Given the description of an element on the screen output the (x, y) to click on. 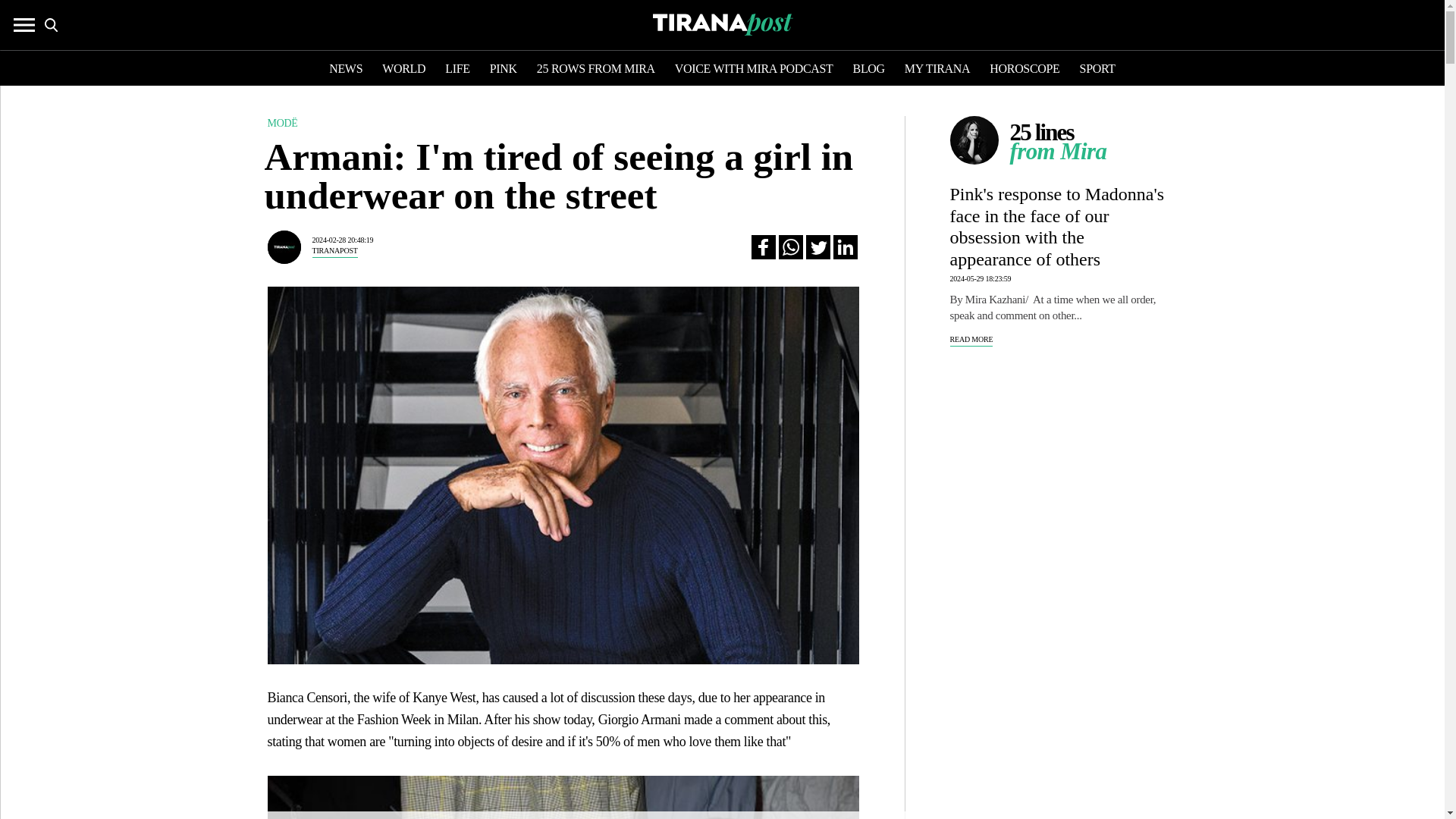
BLOG (869, 69)
LinkedIn (844, 247)
VOICE WITH MIRA PODCAST (753, 69)
LIFE (457, 69)
MY TIRANA (936, 69)
HOROSCOPE (1024, 69)
WORLD (403, 69)
25 ROWS FROM MIRA (596, 69)
3rd party ad content (1062, 710)
SPORT (1097, 69)
3rd party ad content (1062, 467)
PINK (502, 69)
NEWS (345, 69)
LinkedIn (844, 247)
